Given the description of an element on the screen output the (x, y) to click on. 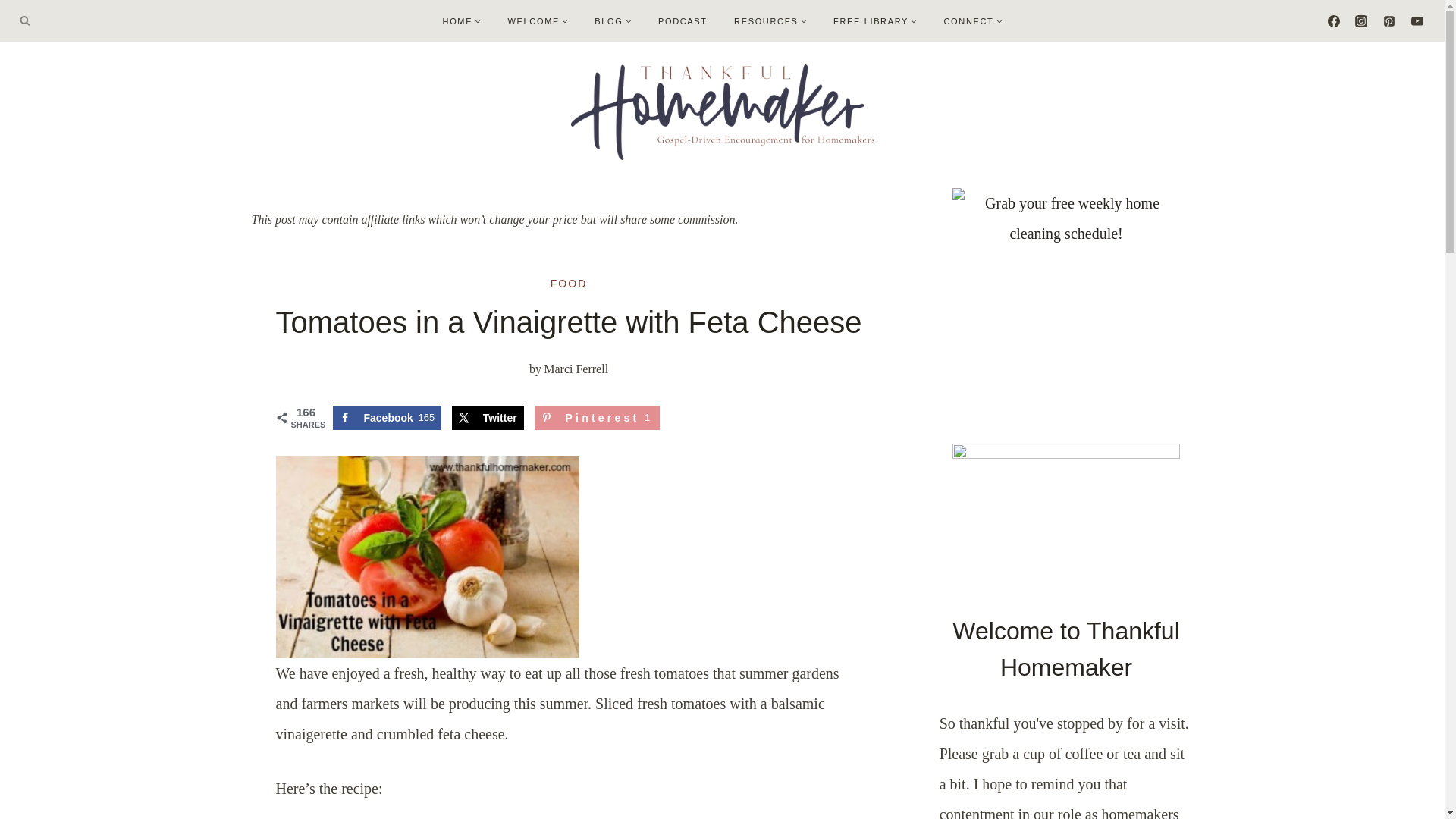
WELCOME (537, 20)
Share on X (487, 417)
RESOURCES (769, 20)
Share on Facebook (386, 417)
HOME (462, 20)
Save to Pinterest (596, 417)
PODCAST (682, 20)
BLOG (612, 20)
